Given the description of an element on the screen output the (x, y) to click on. 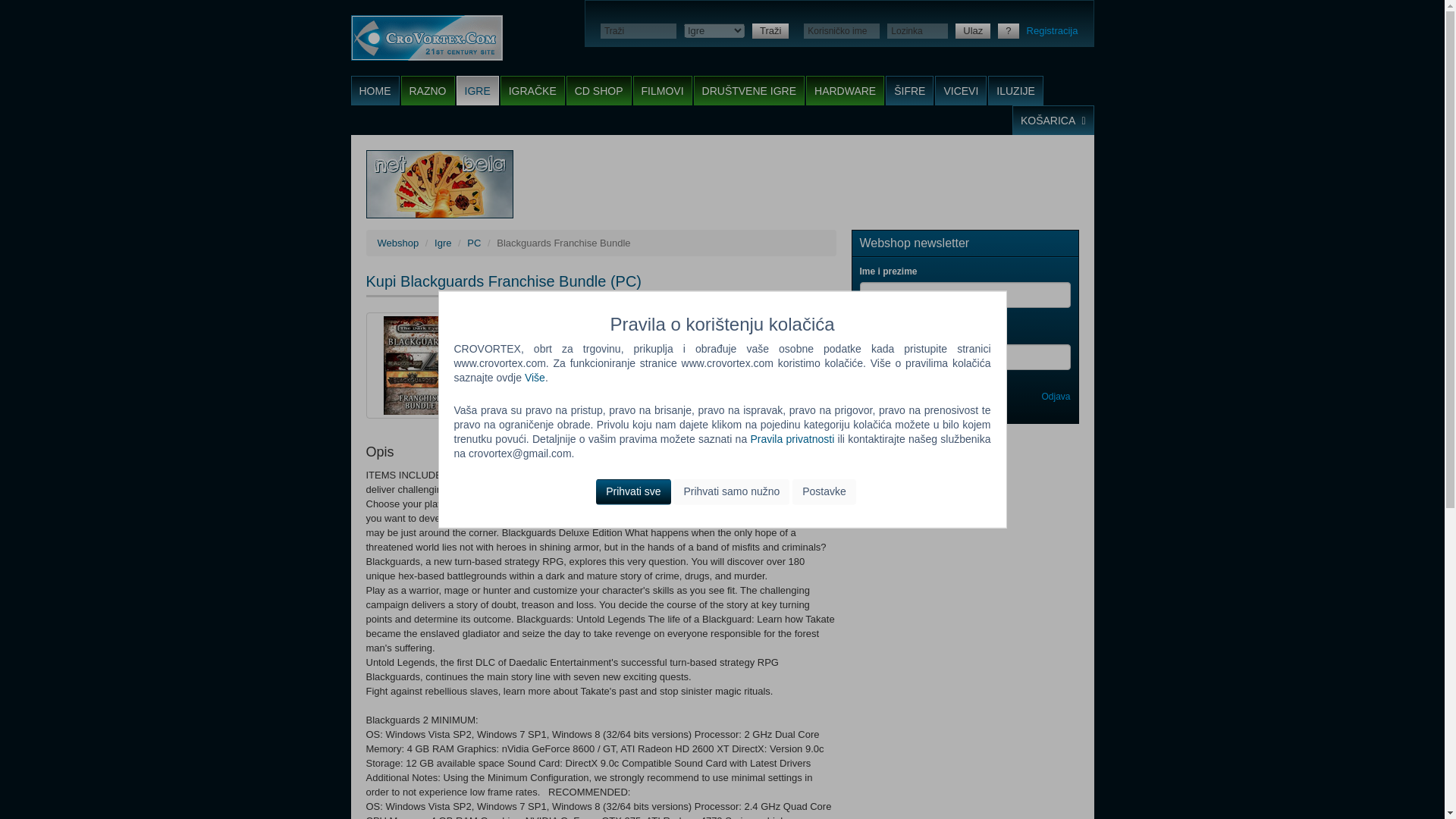
HOME (374, 90)
RAZNO (427, 90)
? (1007, 30)
Ulaz (972, 30)
Registracija (1052, 30)
CroVortex (426, 37)
IGRE (478, 90)
